Given the description of an element on the screen output the (x, y) to click on. 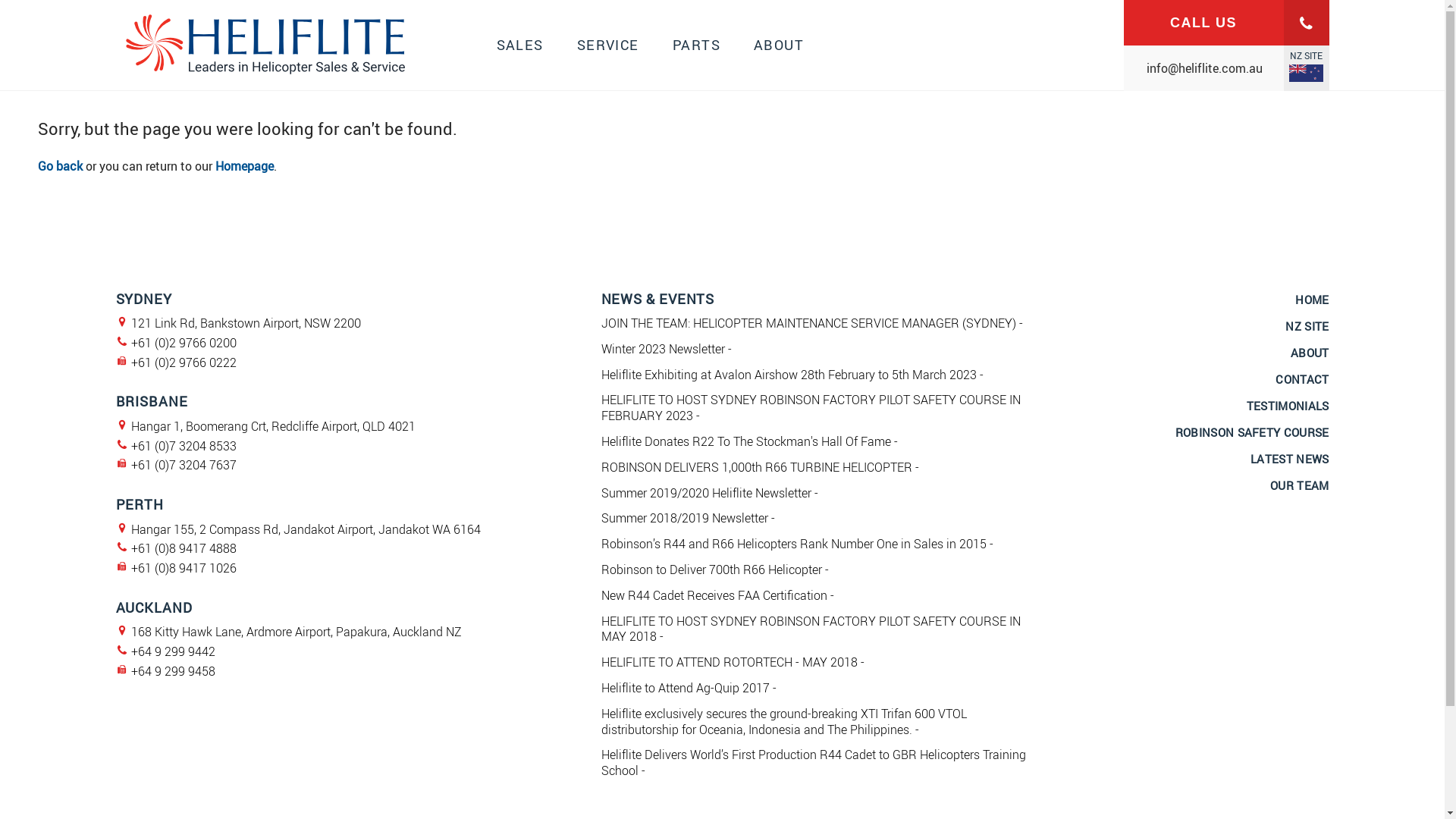
ROBINSON DELIVERS 1,000th R66 TURBINE HELICOPTER - Element type: text (759, 466)
NZ SITE Element type: text (1306, 325)
NZ SITE Element type: text (1305, 68)
168 Kitty Hawk Lane, Ardmore Airport, Papakura, Auckland NZ Element type: text (295, 631)
Go back Element type: text (59, 165)
Hangar 155, 2 Compass Rd, Jandakot Airport, Jandakot WA 6164 Element type: text (305, 528)
LATEST NEWS Element type: text (1289, 458)
HELIFLITE TO ATTEND ROTORTECH - MAY 2018 - Element type: text (731, 661)
+61 (0)7 3204 8533 Element type: text (182, 445)
CONTACT Element type: text (1301, 378)
Summer 2018/2019 Newsletter - Element type: text (687, 517)
Heliflite to Attend Ag-Quip 2017 - Element type: text (687, 687)
121 Link Rd, Bankstown Airport, NSW 2200 Element type: text (245, 322)
Homepage Element type: text (244, 165)
OUR TEAM Element type: text (1299, 484)
ROBINSON SAFETY COURSE Element type: text (1252, 431)
+64 9 299 9442 Element type: text (172, 651)
Robinson to Deliver 700th R66 Helicopter - Element type: text (714, 569)
info@heliflite.com.au Element type: text (1226, 68)
HOME Element type: text (1311, 299)
Summer 2019/2020 Heliflite Newsletter - Element type: text (708, 492)
+61 (0)2 9766 0200 Element type: text (182, 342)
Hangar 1, Boomerang Crt, Redcliffe Airport, QLD 4021 Element type: text (272, 425)
+61 (0)8 9417 4888 Element type: text (182, 547)
Heliflite Donates R22 To The Stockman's Hall Of Fame - Element type: text (748, 441)
ABOUT Element type: text (1309, 352)
New R44 Cadet Receives FAA Certification - Element type: text (716, 594)
CALL US Element type: text (1226, 22)
Winter 2023 Newsletter - Element type: text (665, 348)
TESTIMONIALS Element type: text (1287, 405)
logo Element type: text (263, 75)
